Given the description of an element on the screen output the (x, y) to click on. 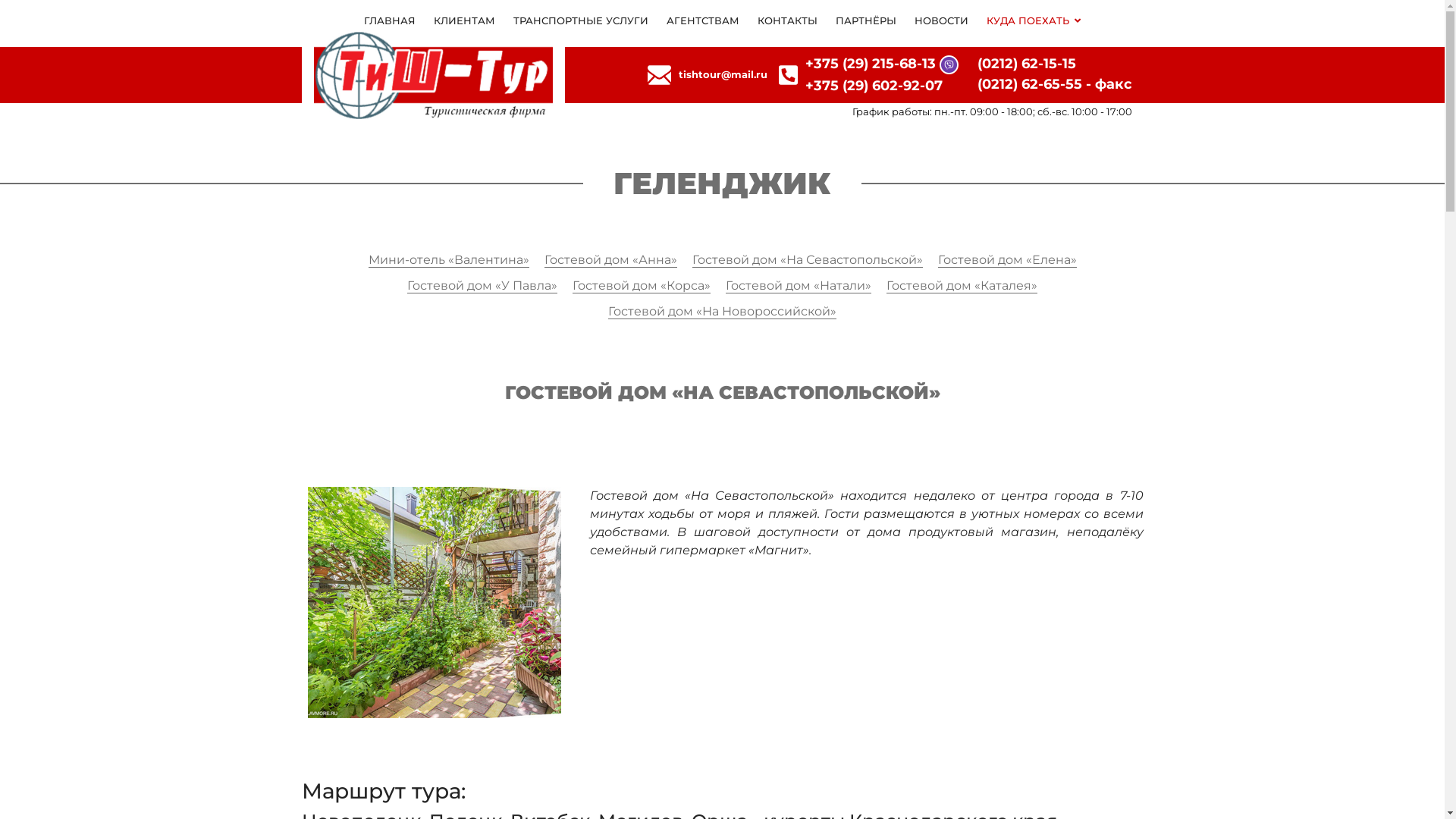
+375 (29) 215-68-13 Element type: text (870, 63)
tishtour@mail.ru Element type: text (722, 74)
(0212) 62-15-15 Element type: text (1025, 63)
+375 (29) 602-92-07 Element type: text (873, 85)
